Given the description of an element on the screen output the (x, y) to click on. 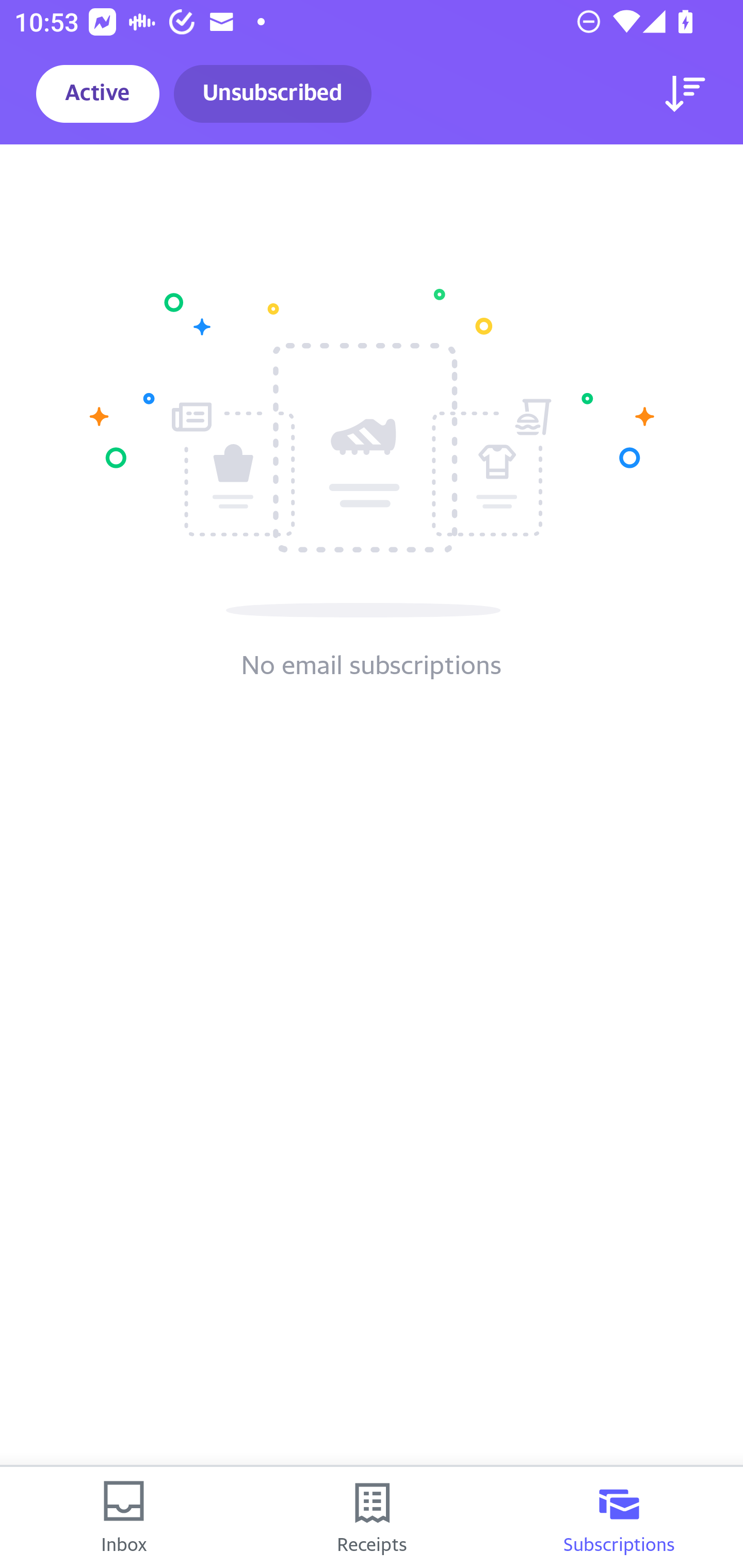
Unsubscribed (272, 93)
Sort (684, 93)
Inbox (123, 1517)
Receipts (371, 1517)
Subscriptions (619, 1517)
